Given the description of an element on the screen output the (x, y) to click on. 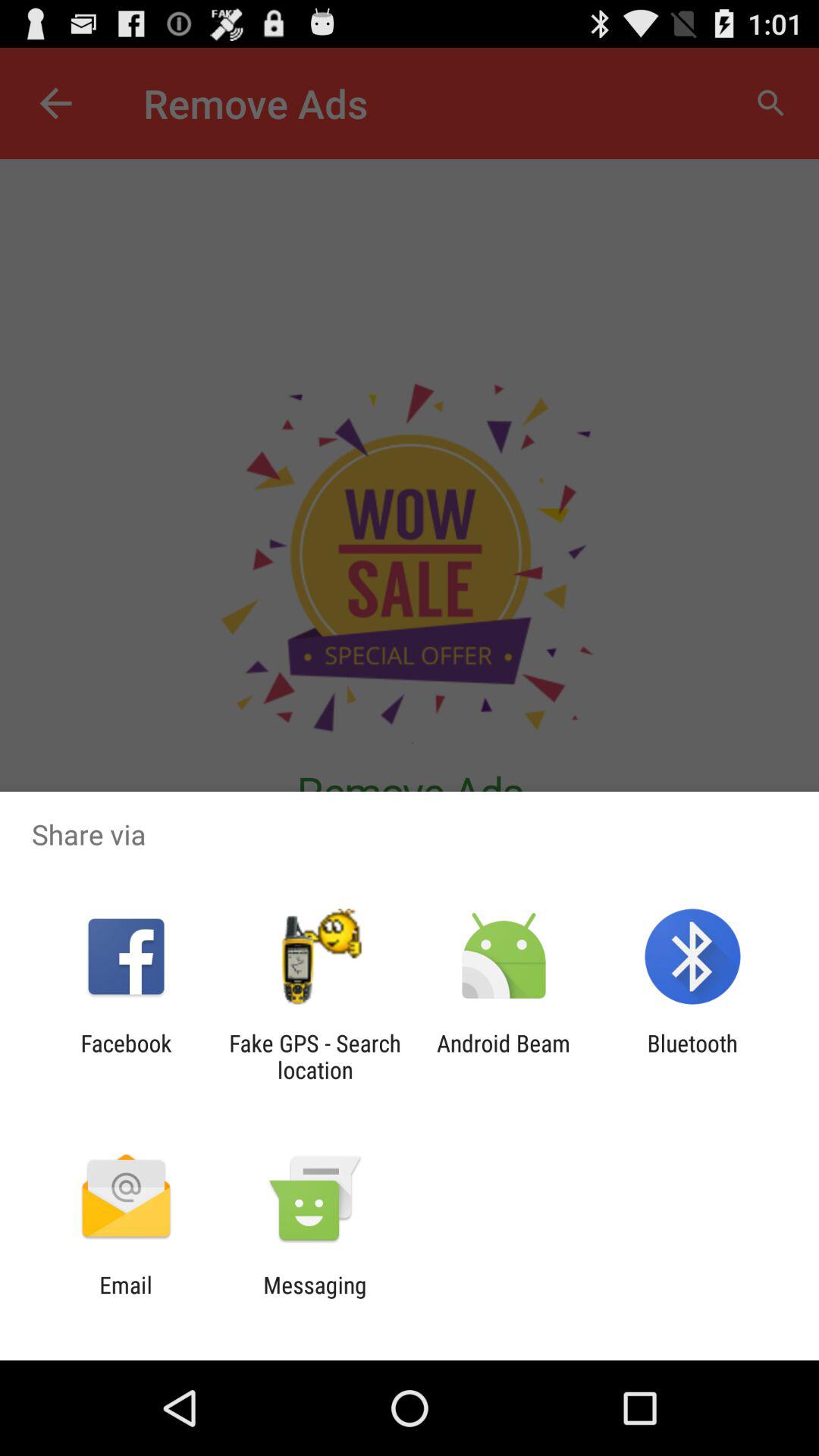
click the bluetooth app (692, 1056)
